Given the description of an element on the screen output the (x, y) to click on. 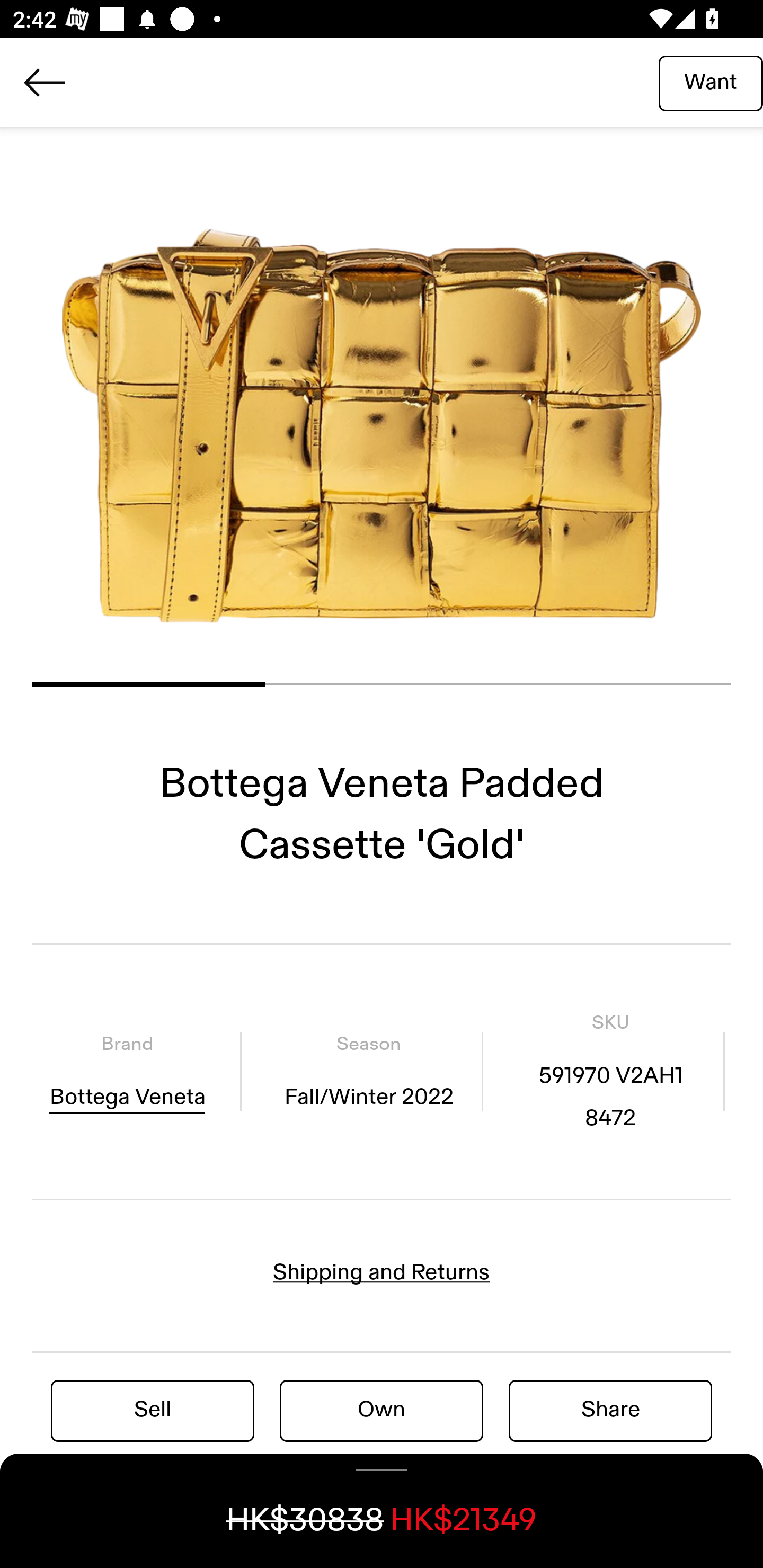
Want (710, 82)
Brand Bottega Veneta (126, 1070)
Season Fall/Winter 2022 (368, 1070)
SKU 591970 V2AH1 8472 (609, 1070)
Shipping and Returns (381, 1272)
Sell (152, 1410)
Own (381, 1410)
Share (609, 1410)
HK$30838 HK$21349 (381, 1510)
